Given the description of an element on the screen output the (x, y) to click on. 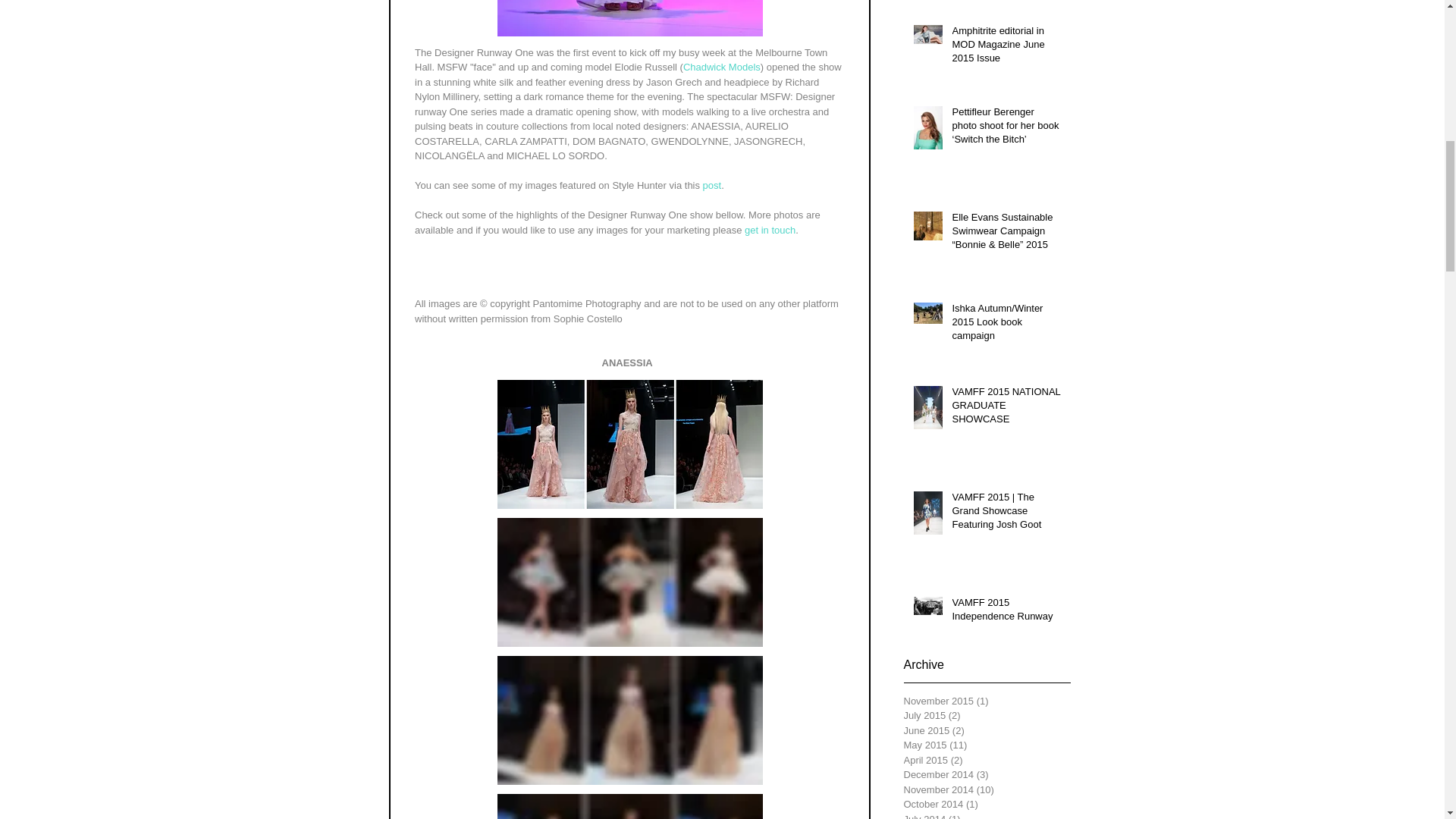
Chadwick Models (721, 66)
get in touch (769, 229)
post (710, 184)
